Given the description of an element on the screen output the (x, y) to click on. 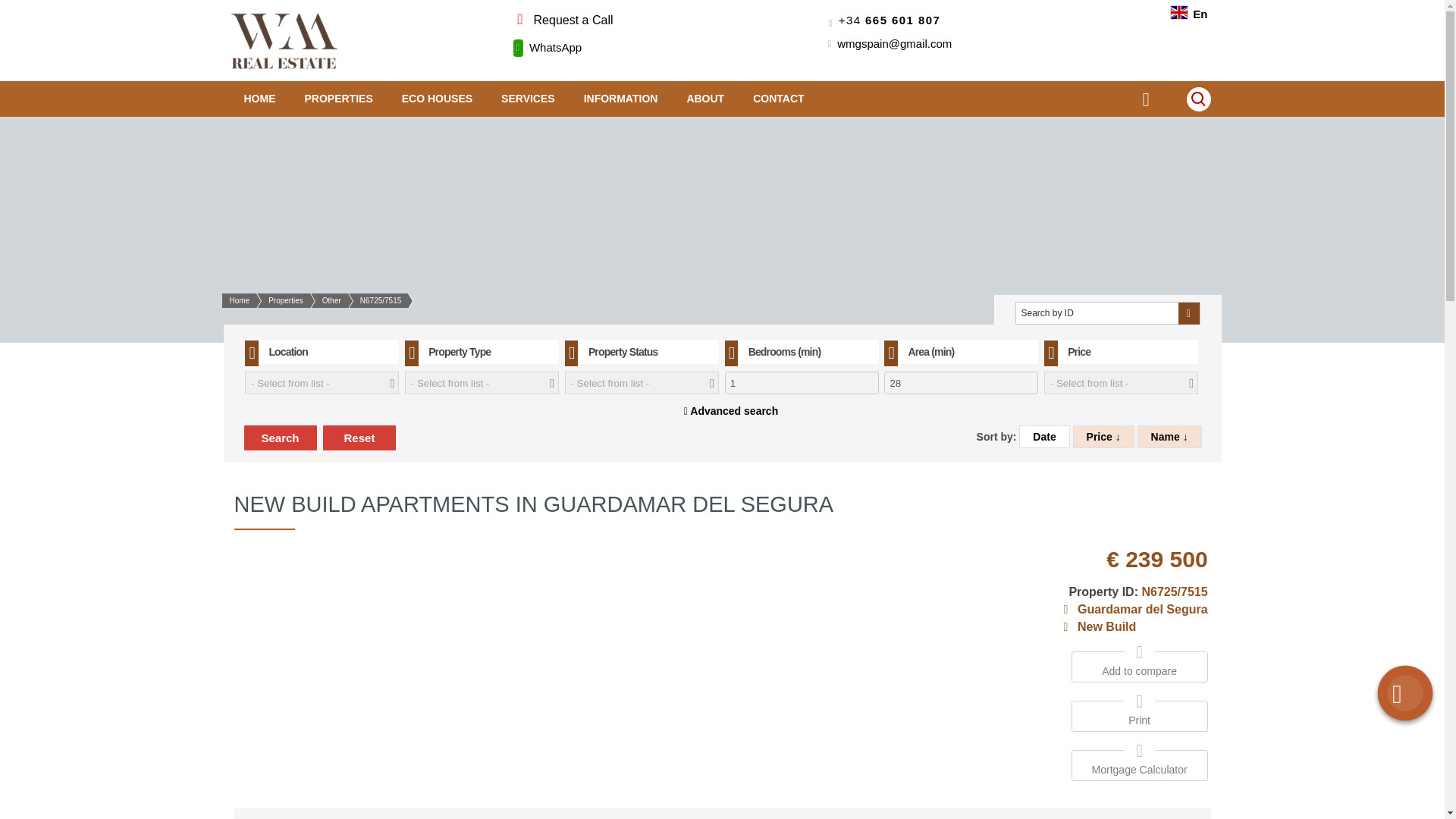
Other (321, 300)
CONTACT (778, 98)
ECO HOUSES (436, 98)
SERVICES (527, 98)
Mortgage Calculator (1139, 768)
1 (802, 382)
Print (1139, 719)
1147 (960, 404)
PROPERTIES (338, 98)
28 (960, 382)
Date (1043, 436)
ABOUT (704, 98)
Add to compare (1139, 662)
WhatsApp (546, 47)
Request a Call (560, 20)
